Given the description of an element on the screen output the (x, y) to click on. 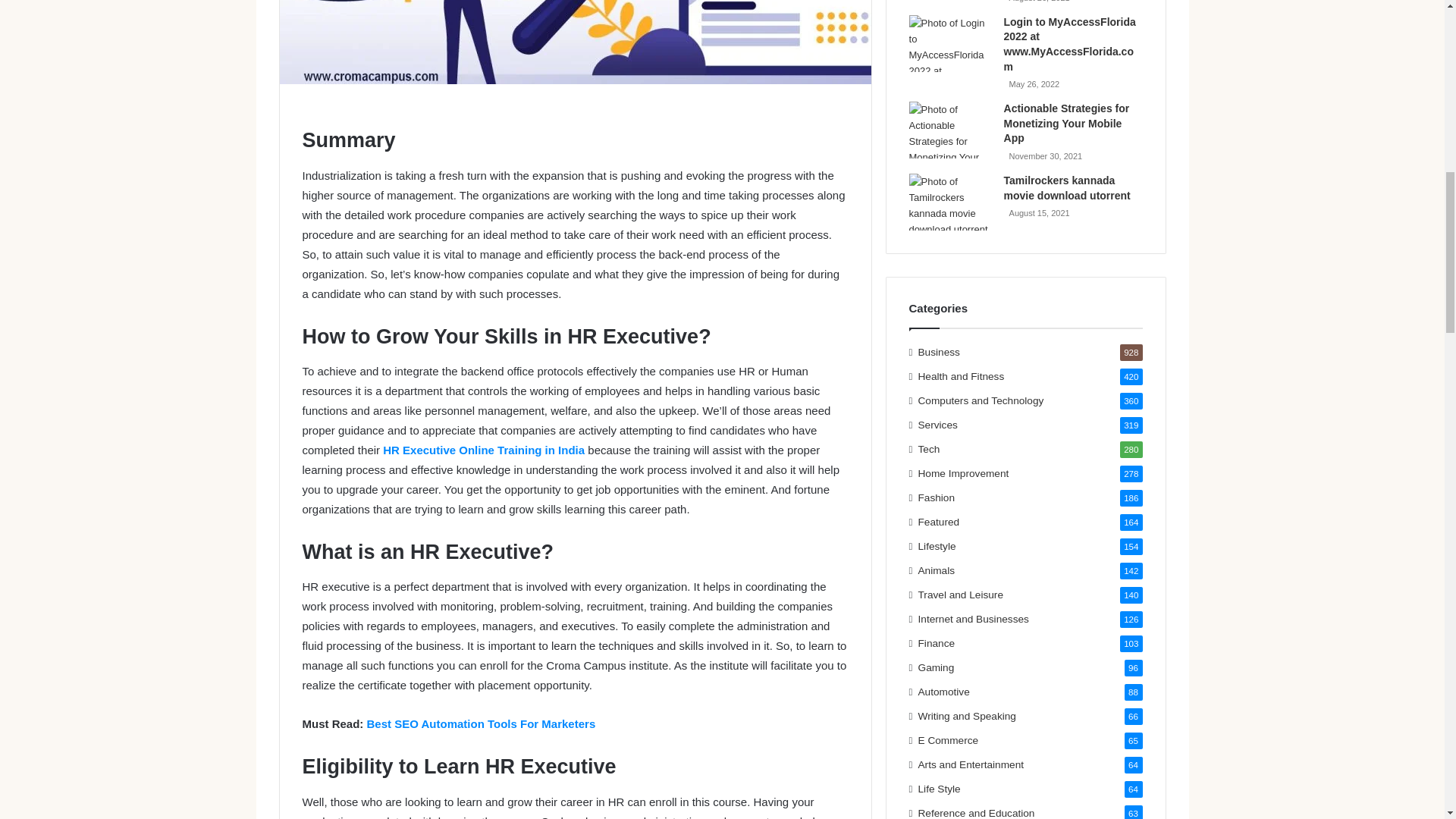
Best SEO Automation Tools For Marketers (480, 723)
HR Executive Online Training in India (483, 449)
